Given the description of an element on the screen output the (x, y) to click on. 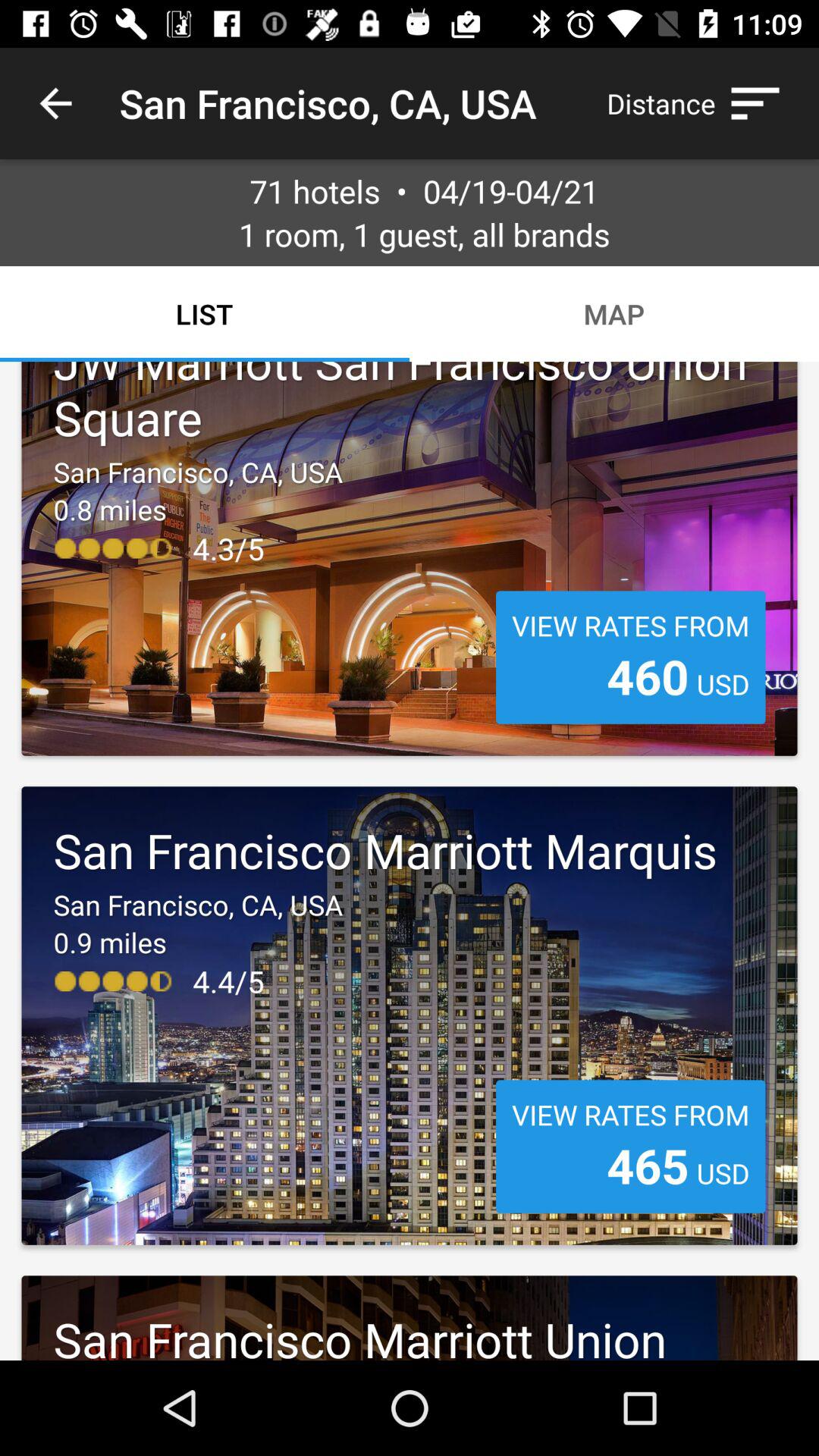
tap distance (700, 103)
